Given the description of an element on the screen output the (x, y) to click on. 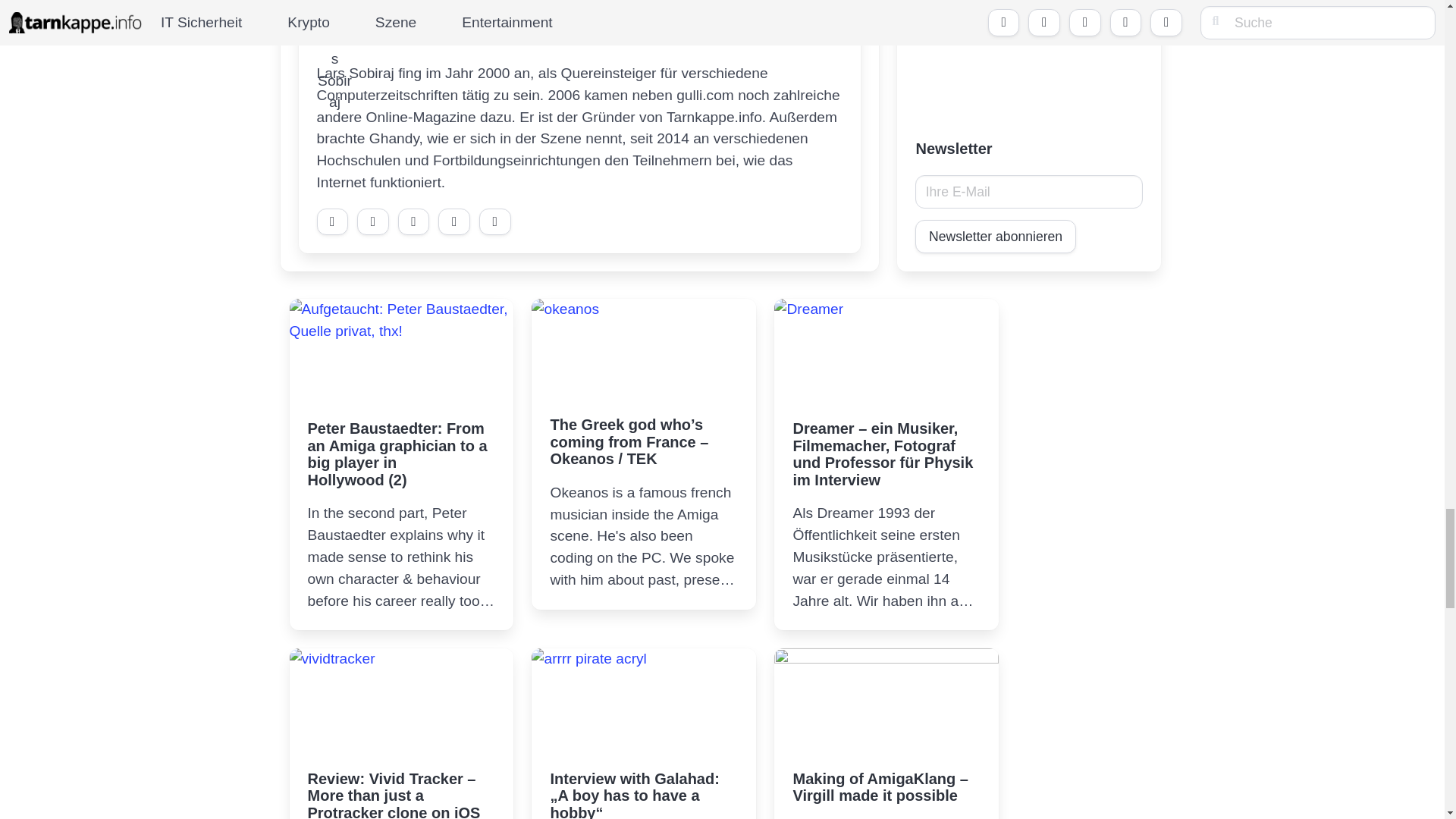
Auf Telegram kontaktieren (333, 221)
